Given the description of an element on the screen output the (x, y) to click on. 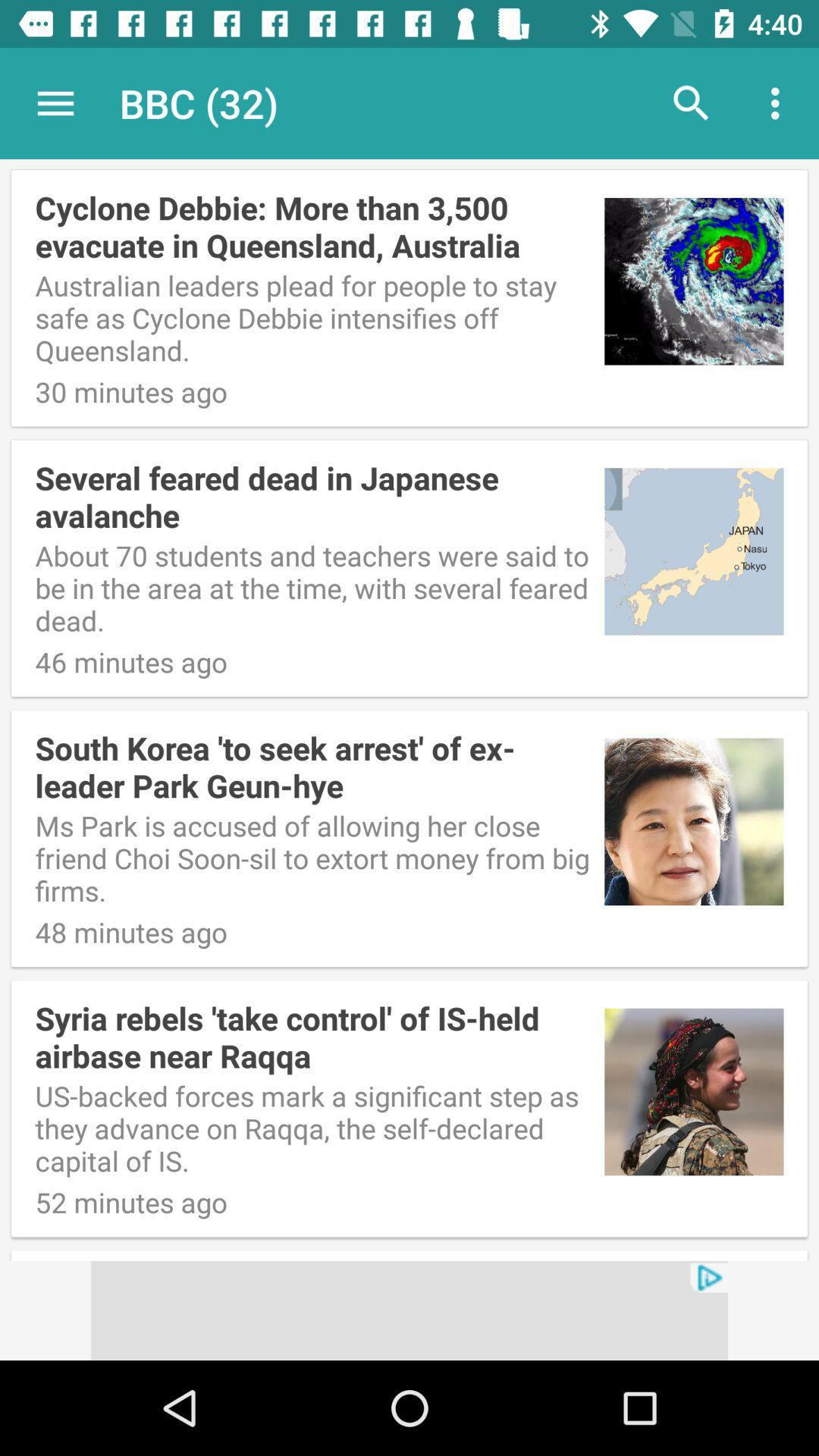
launch the item next to the bbc (32) item (55, 103)
